Given the description of an element on the screen output the (x, y) to click on. 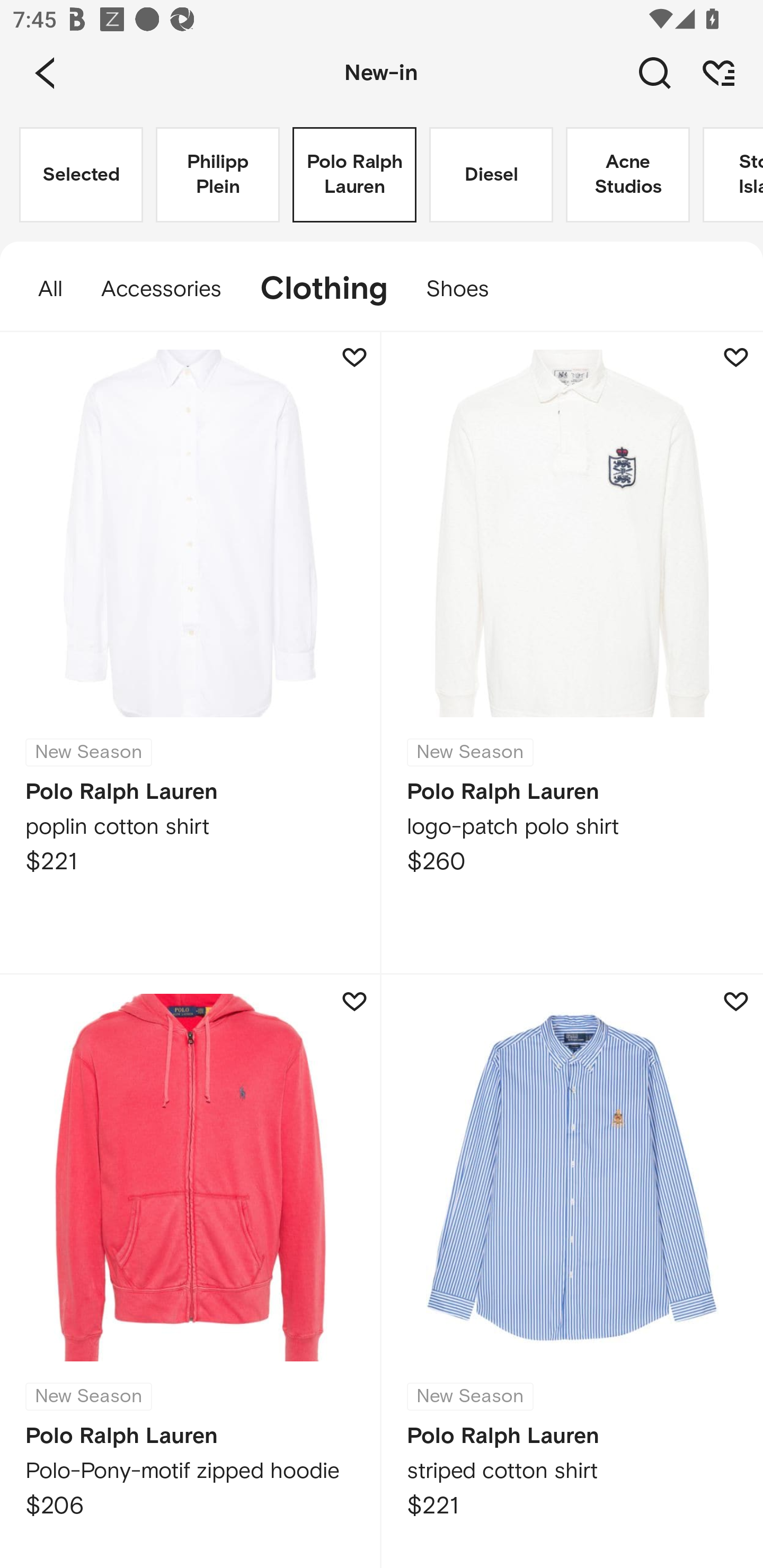
Selected (81, 174)
Philipp Plein (217, 174)
Polo Ralph Lauren (354, 174)
Diesel (490, 174)
Acne Studios (627, 174)
All (40, 288)
Accessories (160, 288)
Clothing (323, 288)
Shoes (466, 288)
